Given the description of an element on the screen output the (x, y) to click on. 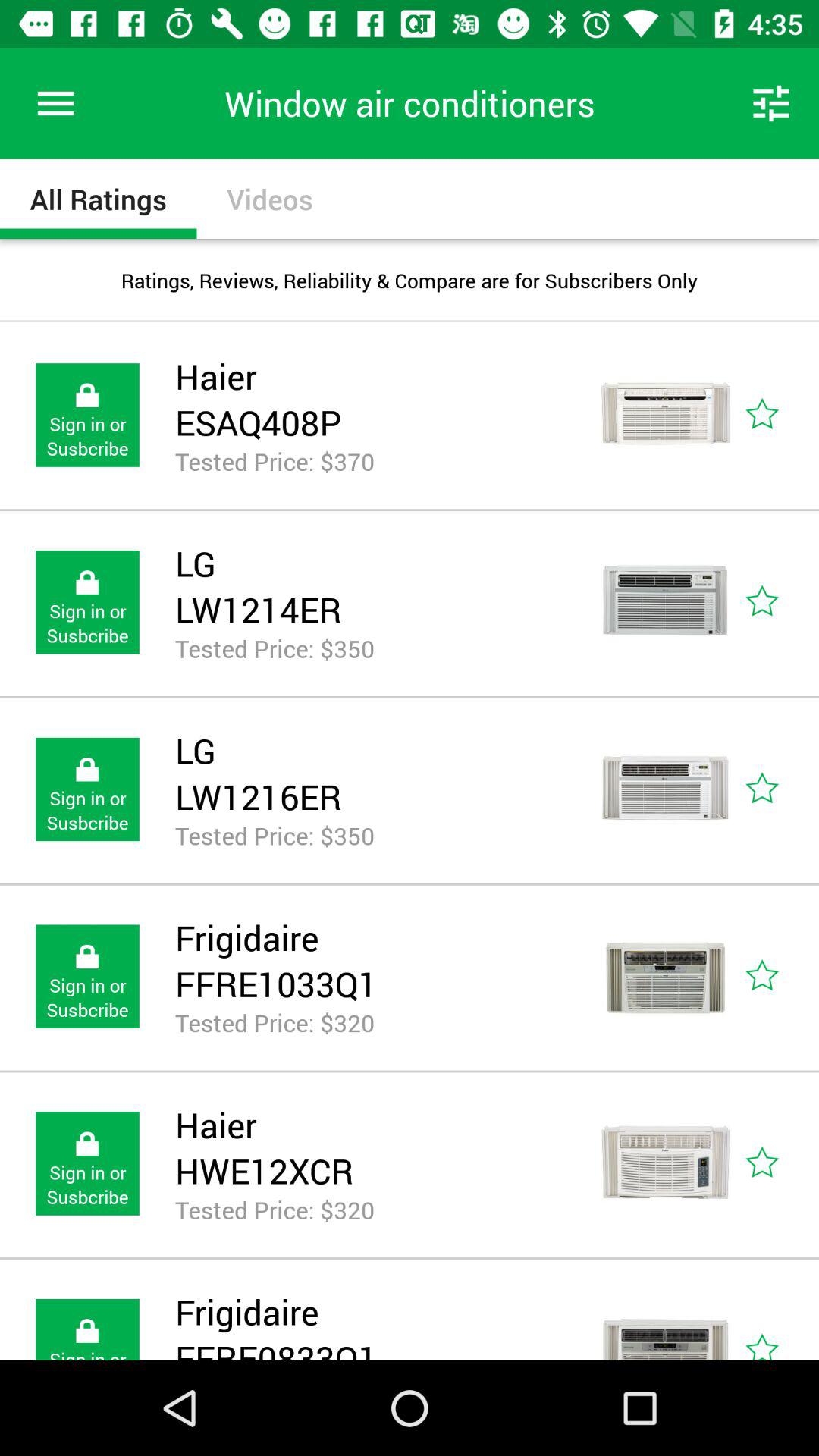
the icon represented rating of the given product (779, 1318)
